Given the description of an element on the screen output the (x, y) to click on. 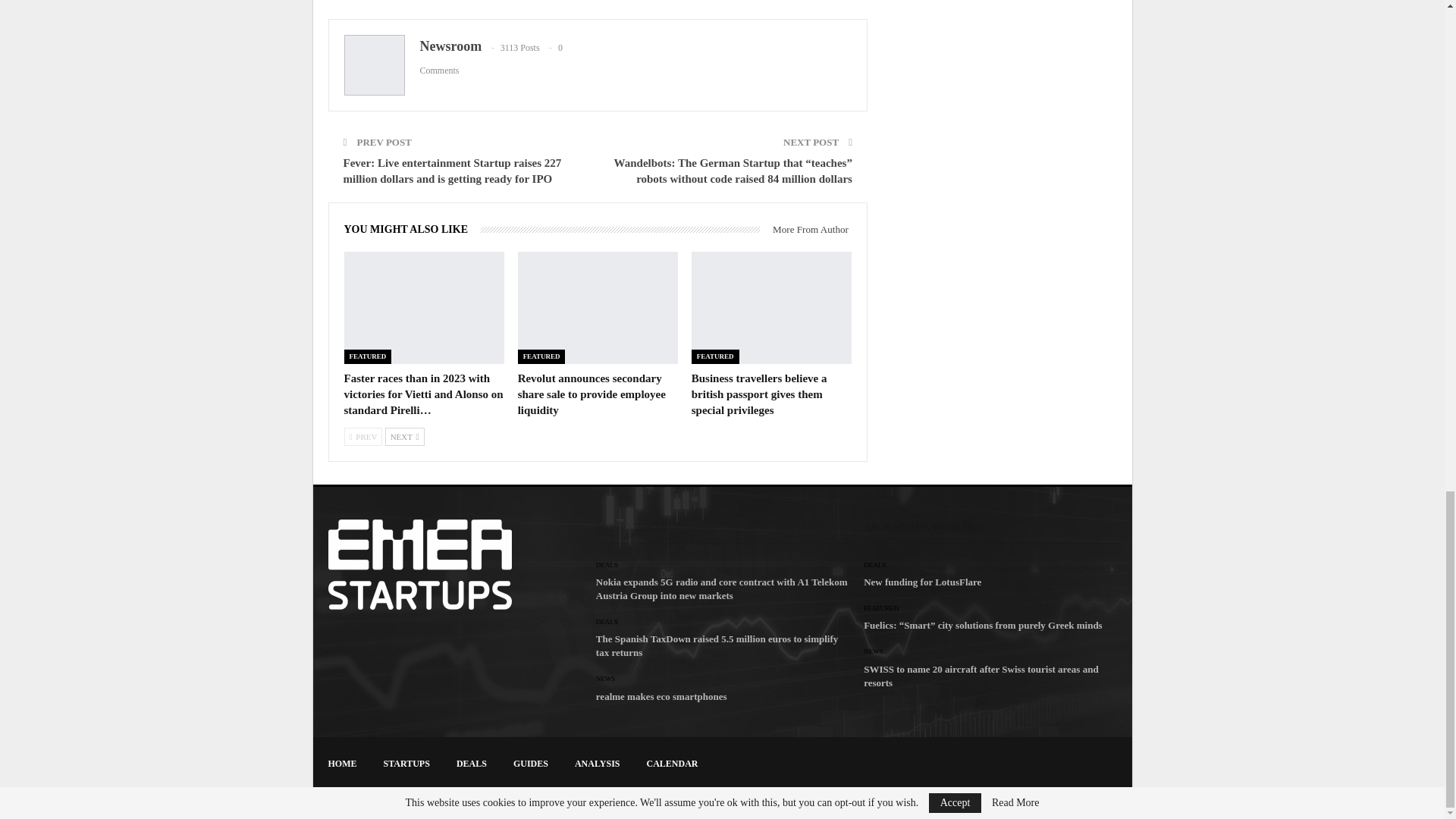
Next (405, 436)
Previous (362, 436)
